Given the description of an element on the screen output the (x, y) to click on. 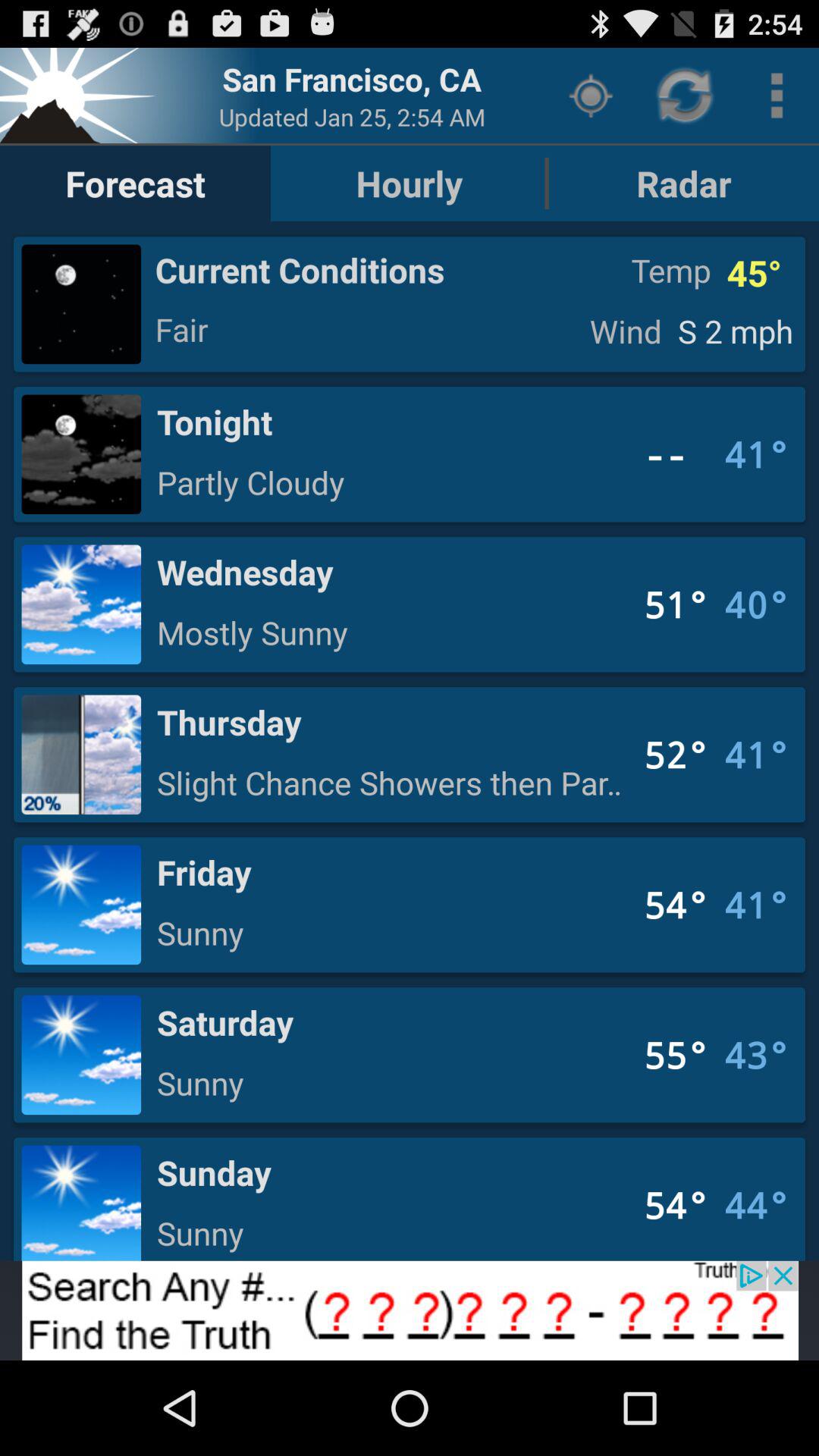
opens a advertisement (409, 1310)
